Given the description of an element on the screen output the (x, y) to click on. 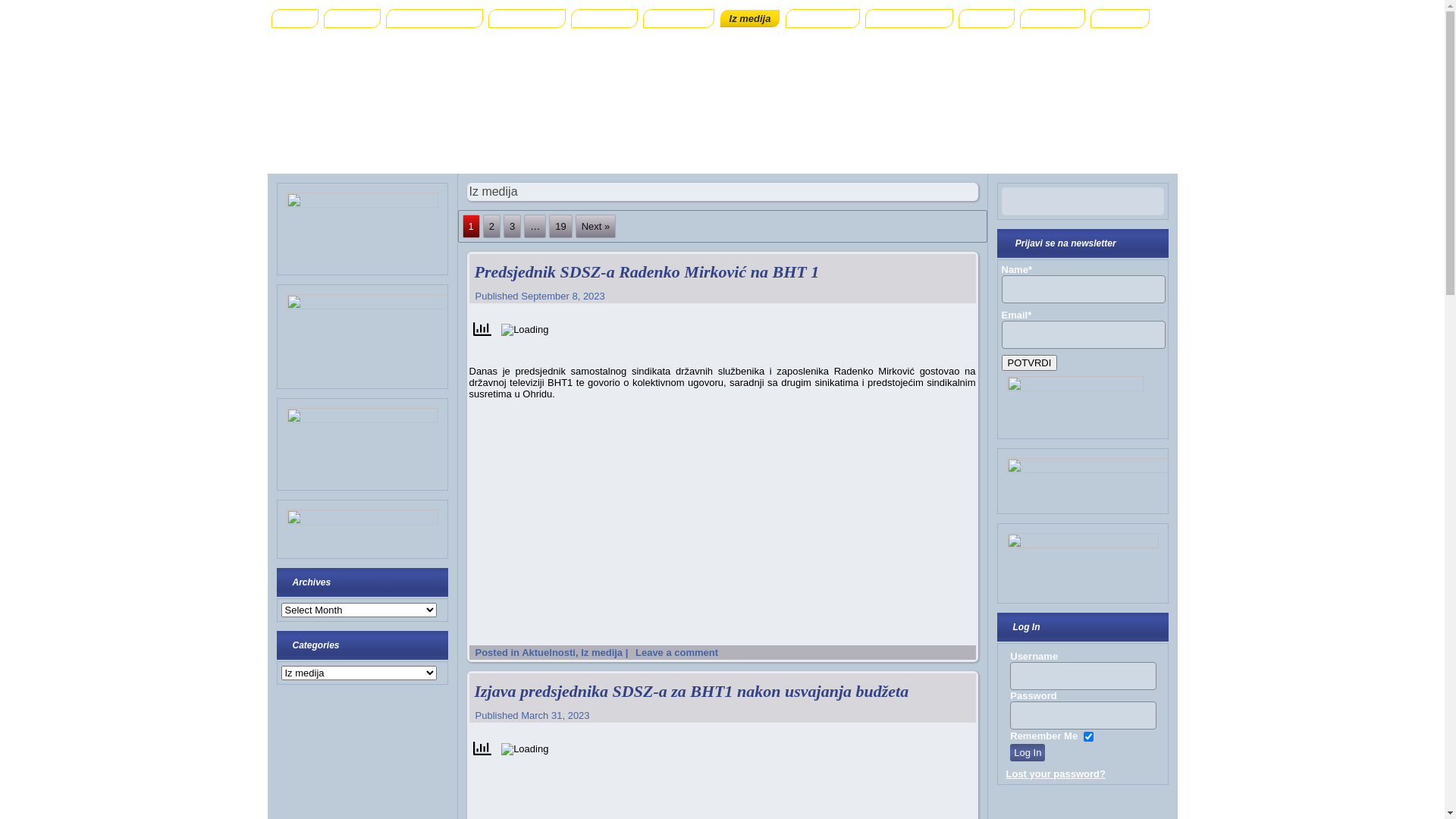
Log In Element type: text (1027, 752)
Iz medija Element type: text (750, 18)
POTVRDI Element type: text (1029, 362)
Aktuelnosti Element type: text (548, 652)
YouTube player Element type: hover (721, 510)
Korisni linkovi Element type: text (909, 18)
O Nama Element type: text (351, 18)
Lost your password? Element type: text (1054, 773)
Home Element type: text (294, 18)
3 Element type: text (511, 226)
Leave a comment Element type: text (676, 652)
Organi sindikata Element type: text (434, 18)
Skupstine Element type: text (604, 18)
Kontakt Element type: text (986, 18)
Dokumenti Element type: text (678, 18)
19 Element type: text (560, 226)
STRAJK Element type: text (1119, 18)
COVID-19 Element type: text (1052, 18)
Pogodnosti Element type: text (822, 18)
Sjednice UO Element type: text (527, 18)
Iz medija Element type: text (601, 652)
2 Element type: text (491, 226)
